Given the description of an element on the screen output the (x, y) to click on. 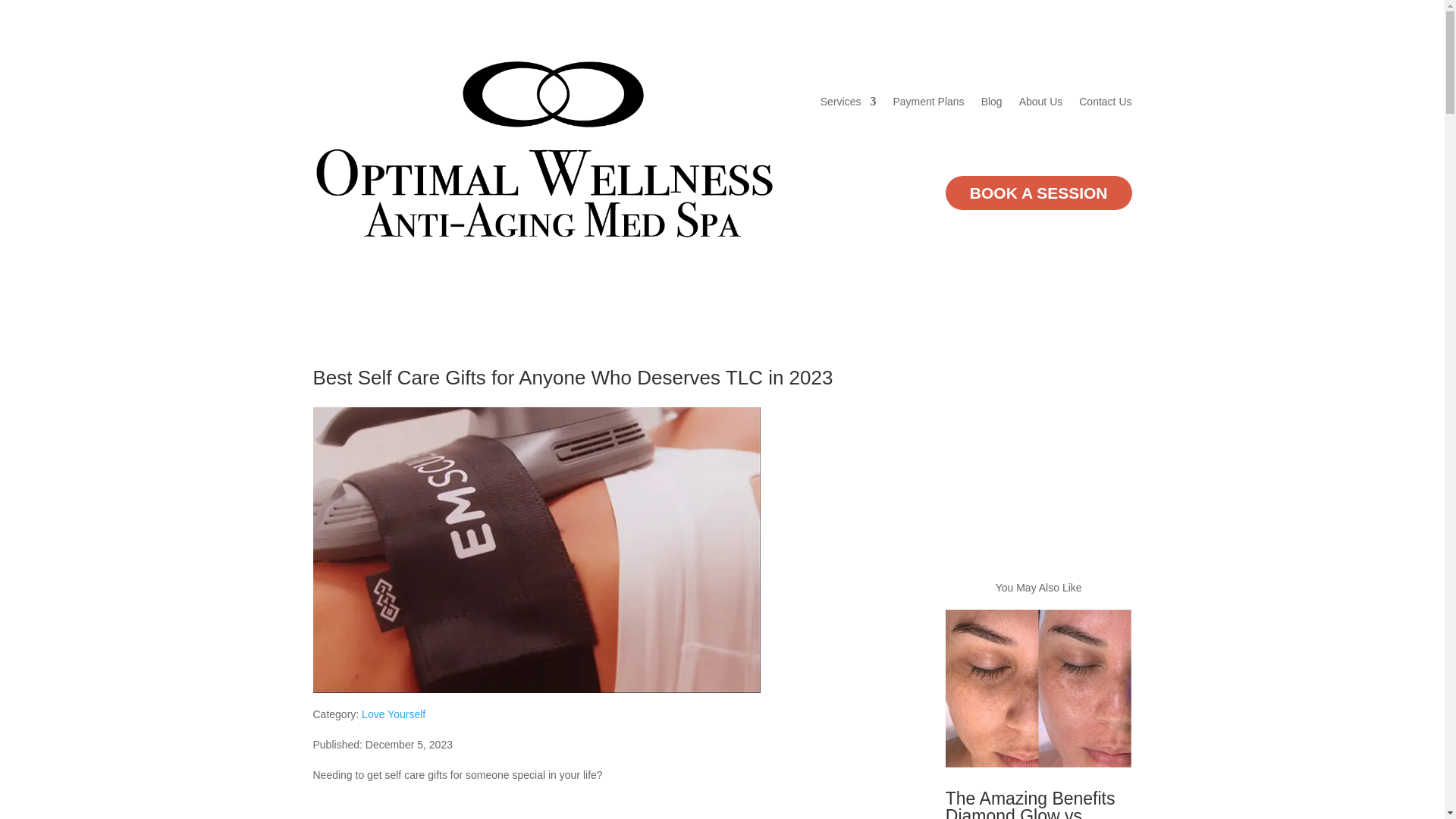
BOOK A SESSION (1038, 192)
Payment Plans (927, 101)
About Us (1040, 101)
Contact Us (1104, 101)
Love Yourself (393, 714)
Blog (992, 101)
877e7e28-f251-4f1c-8fd5-2b6fca3fb61c (536, 549)
Services (848, 101)
